Given the description of an element on the screen output the (x, y) to click on. 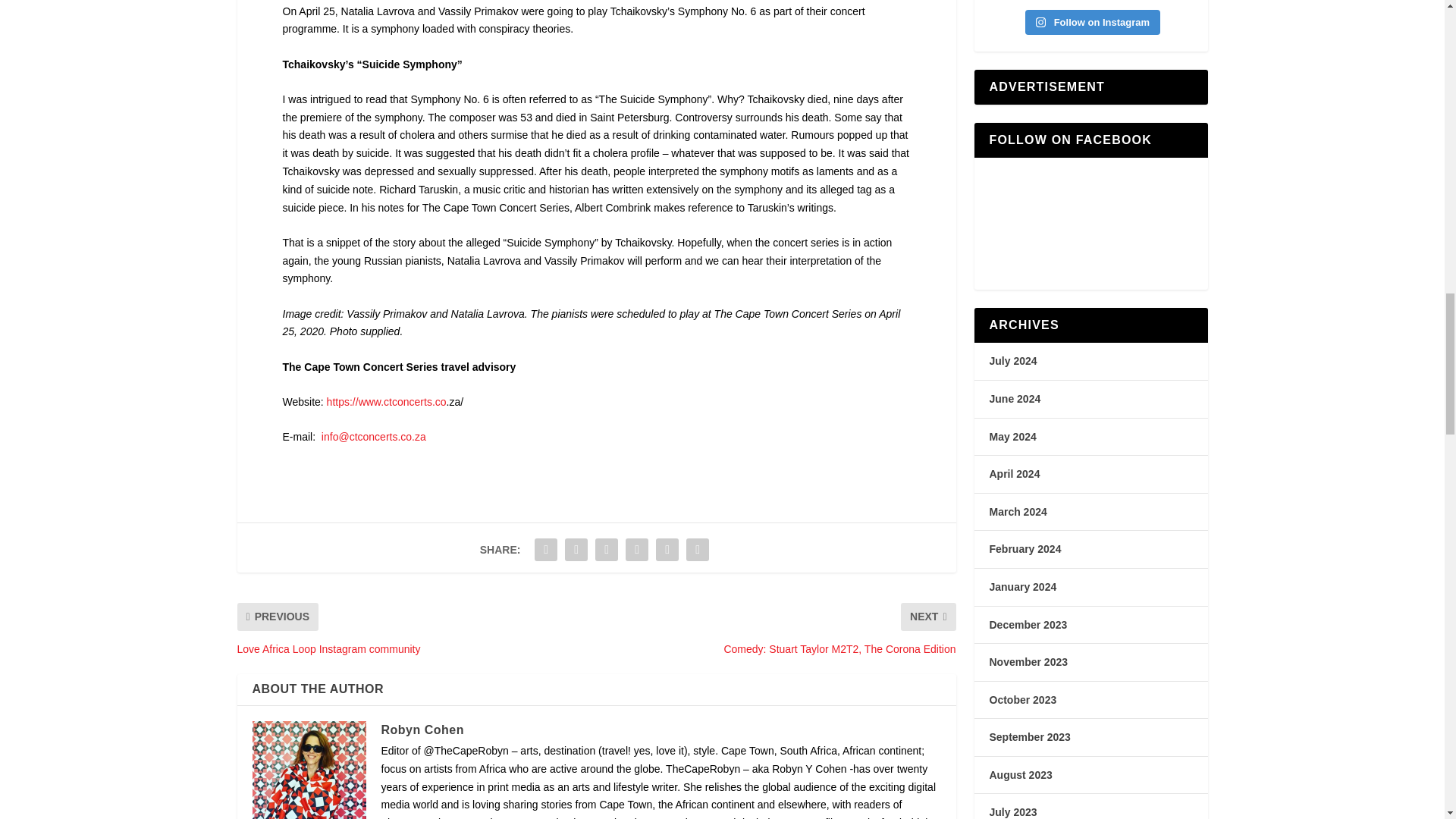
View all posts by Robyn Cohen (422, 729)
